Given the description of an element on the screen output the (x, y) to click on. 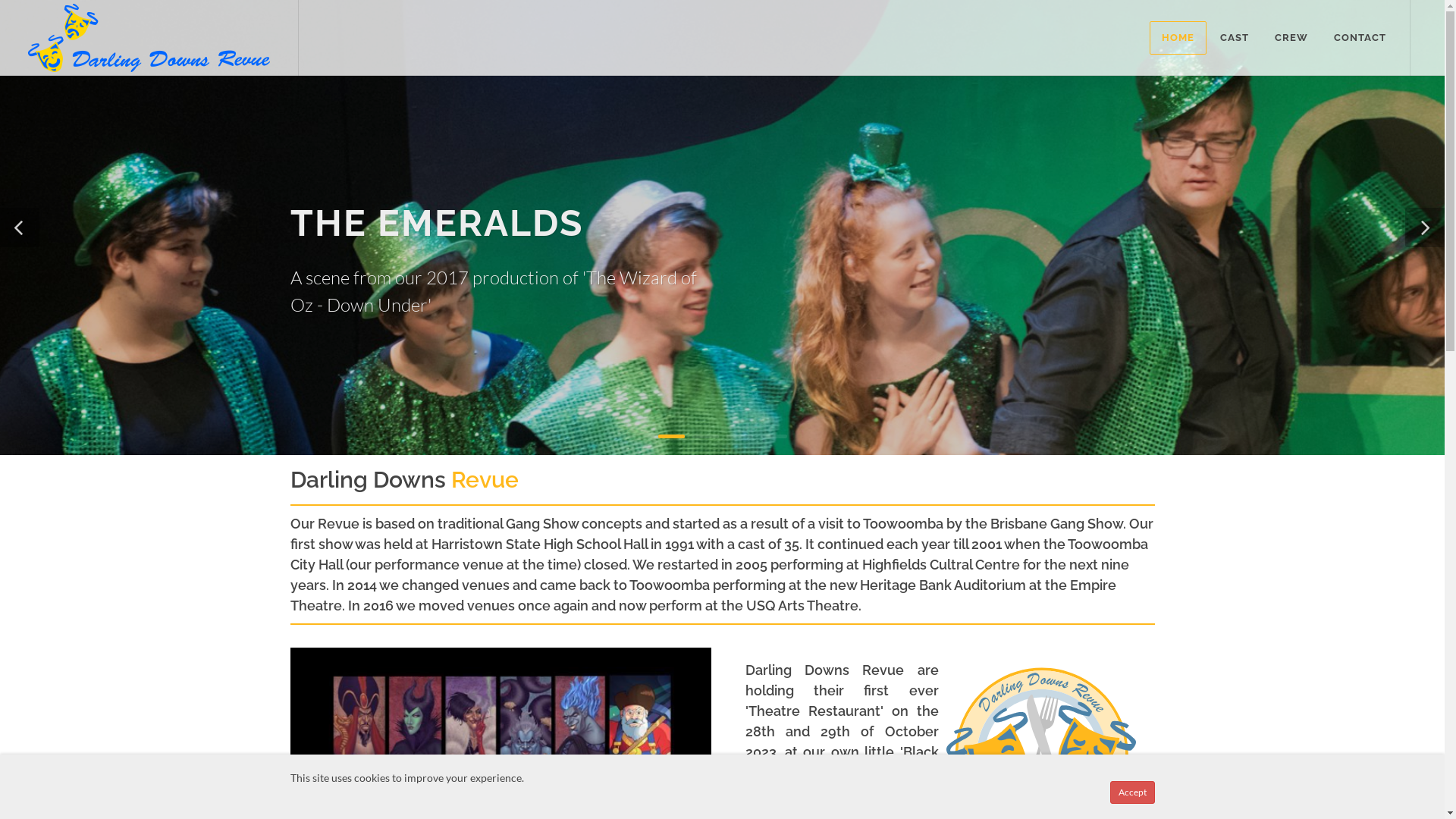
Accept Element type: text (1132, 792)
CAST Element type: text (1234, 37)
HOME Element type: text (1177, 37)
CREW Element type: text (1291, 37)
CONTACT Element type: text (1359, 37)
